Given the description of an element on the screen output the (x, y) to click on. 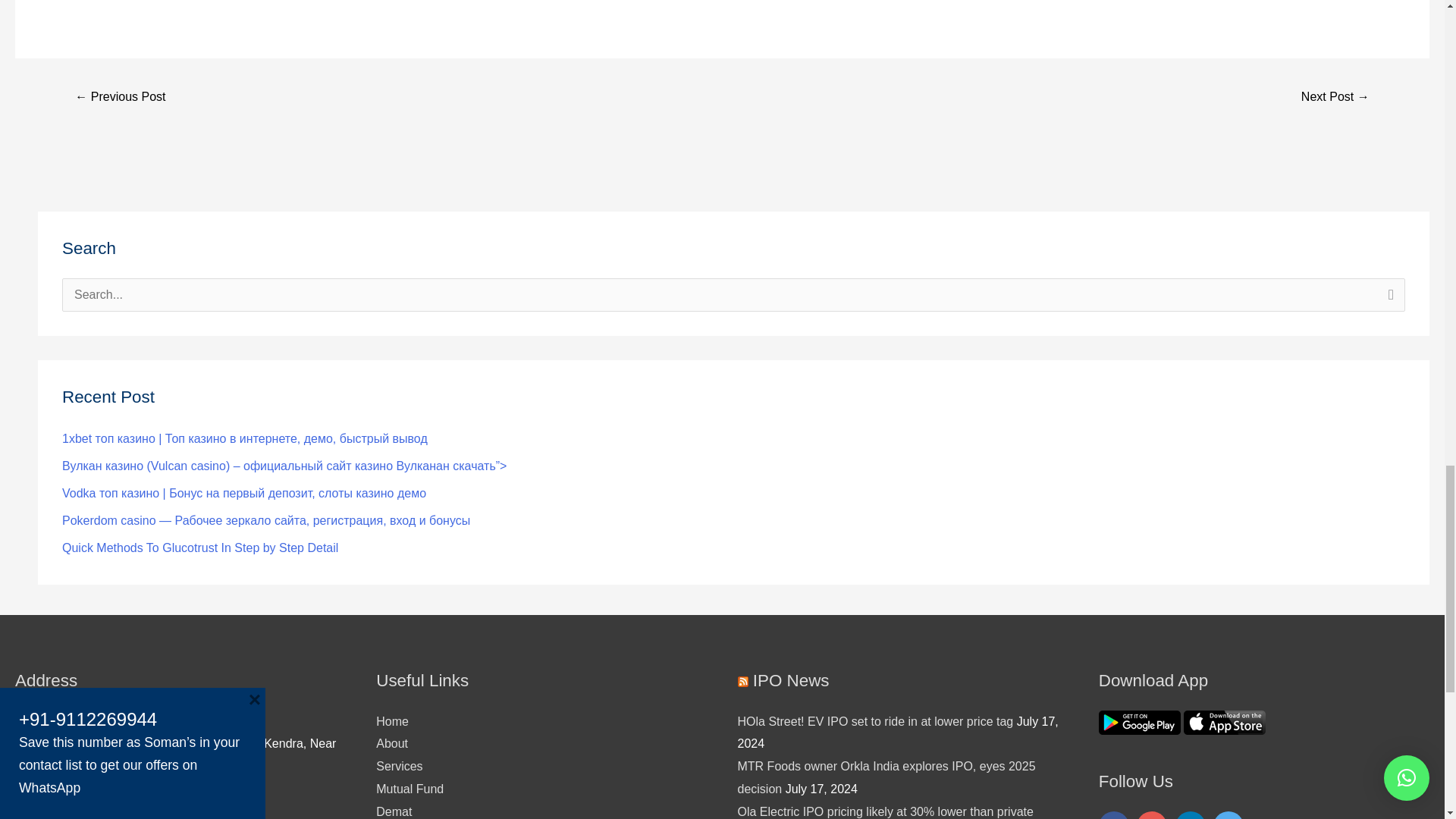
Cafe Gambling establishment (119, 98)
